Given the description of an element on the screen output the (x, y) to click on. 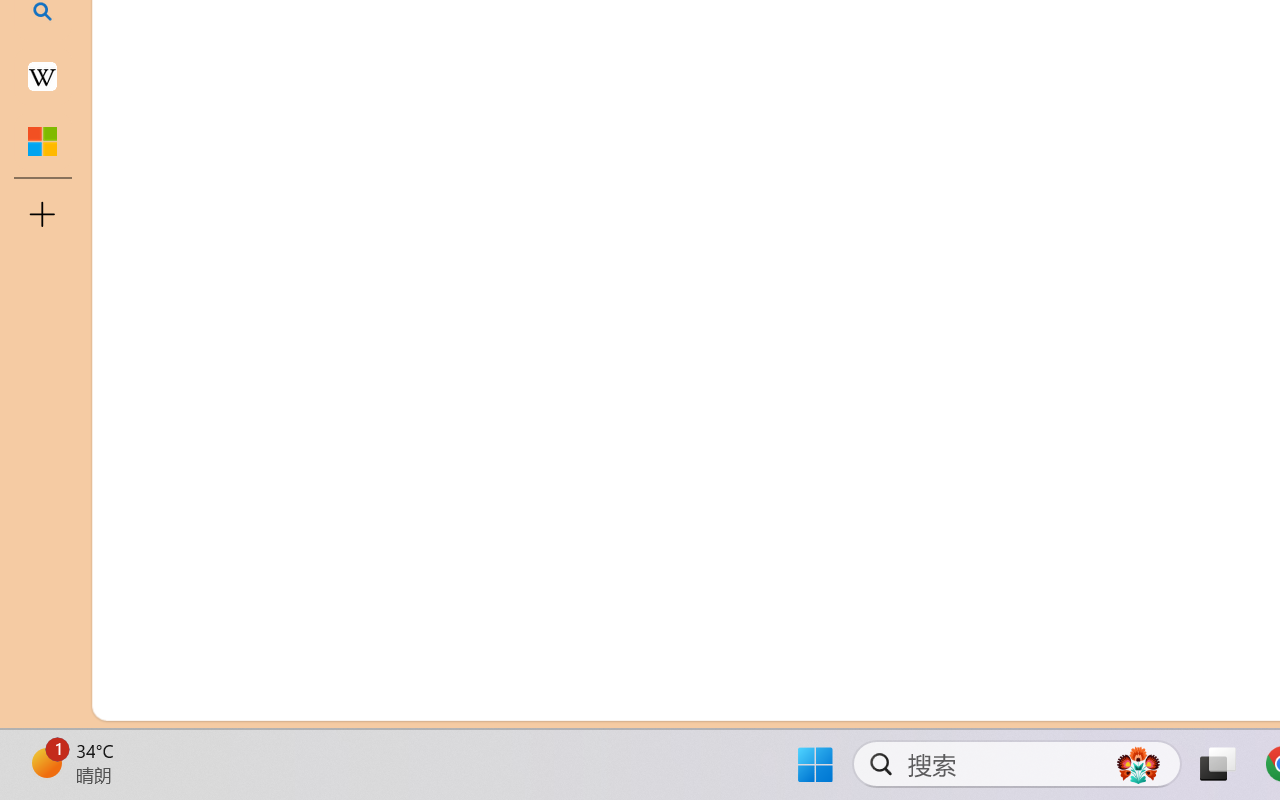
Timeline Section (331, 658)
